Given the description of an element on the screen output the (x, y) to click on. 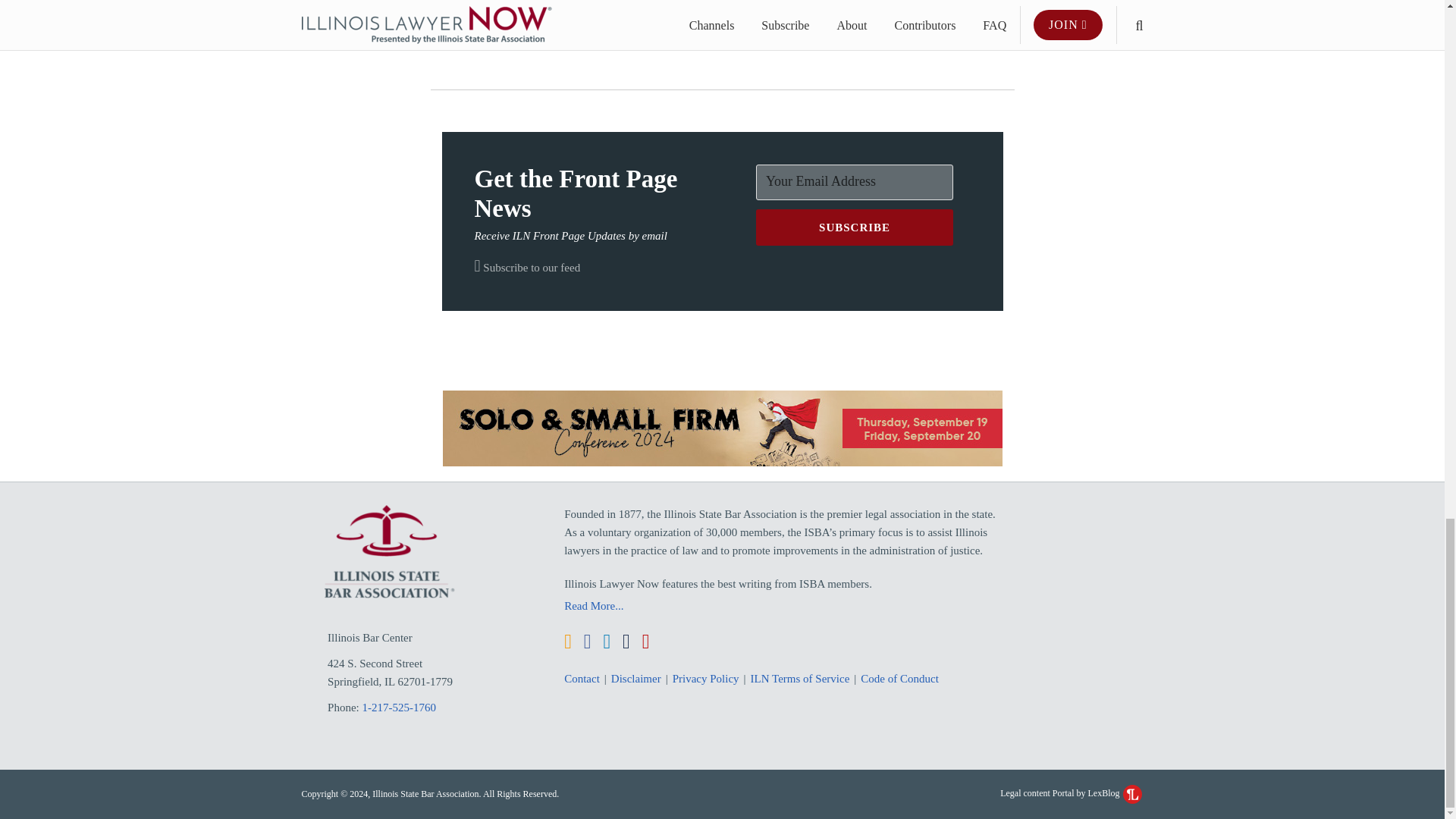
Privacy Policy (705, 678)
Contact (581, 678)
SUBSCRIBE (854, 227)
ILN Terms of Service (800, 678)
View Original Source (533, 29)
Disclaimer (636, 678)
Read More... (786, 606)
LexBlog Logo (1131, 793)
SUBSCRIBE (854, 227)
1-217-525-1760 (399, 707)
